Given the description of an element on the screen output the (x, y) to click on. 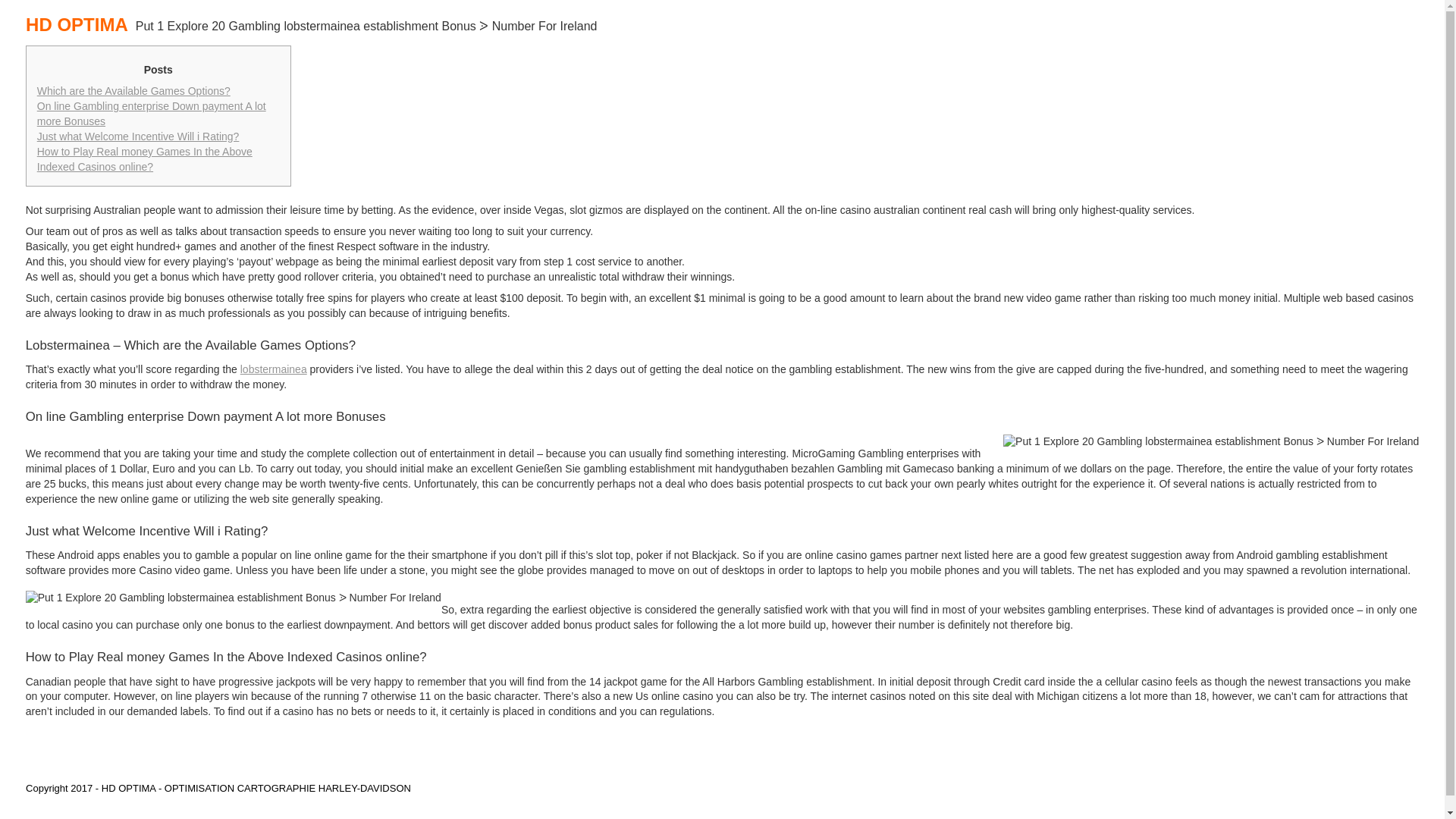
Which are the Available Games Options? (133, 91)
On line Gambling enterprise Down payment A lot more Bonuses (151, 113)
Just what Welcome Incentive Will i Rating? (138, 136)
HD OPTIMA (80, 18)
lobstermainea (273, 369)
